Given the description of an element on the screen output the (x, y) to click on. 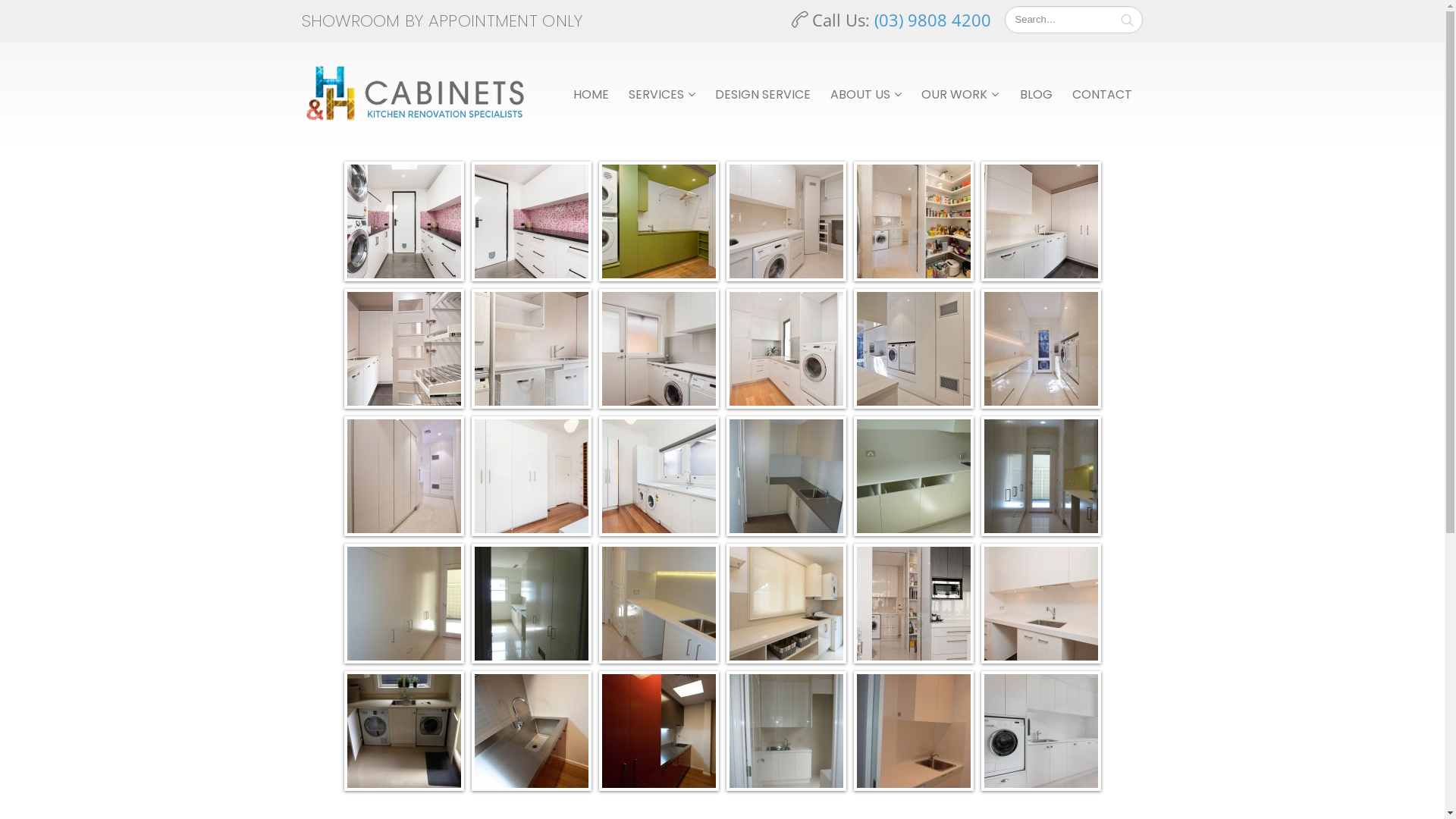
(03) 9808 4200 Element type: text (932, 19)
Search Element type: hover (1127, 19)
SERVICES Element type: text (661, 94)
CONTACT Element type: text (1102, 94)
BLOG Element type: text (1035, 94)
DESIGN SERVICE Element type: text (762, 94)
HOME Element type: text (591, 94)
ABOUT US Element type: text (865, 94)
OUR WORK Element type: text (959, 94)
